Given the description of an element on the screen output the (x, y) to click on. 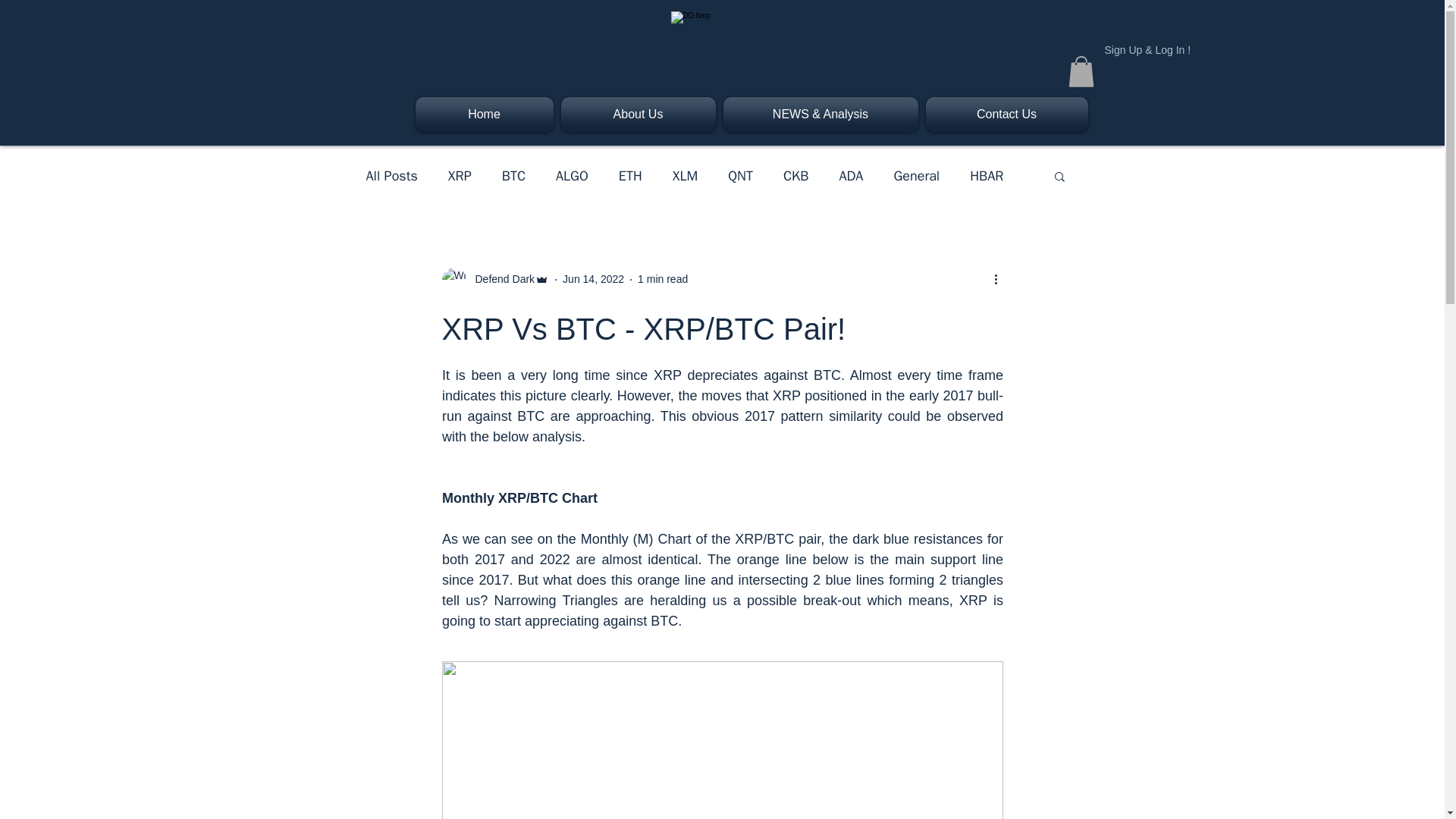
Defend Dark (494, 279)
QNT (740, 176)
1 min read (662, 278)
Defend Dark (499, 279)
CKB (795, 176)
XRP (459, 176)
All Posts (390, 176)
About Us (637, 114)
BTC (513, 176)
ETH (630, 176)
